Given the description of an element on the screen output the (x, y) to click on. 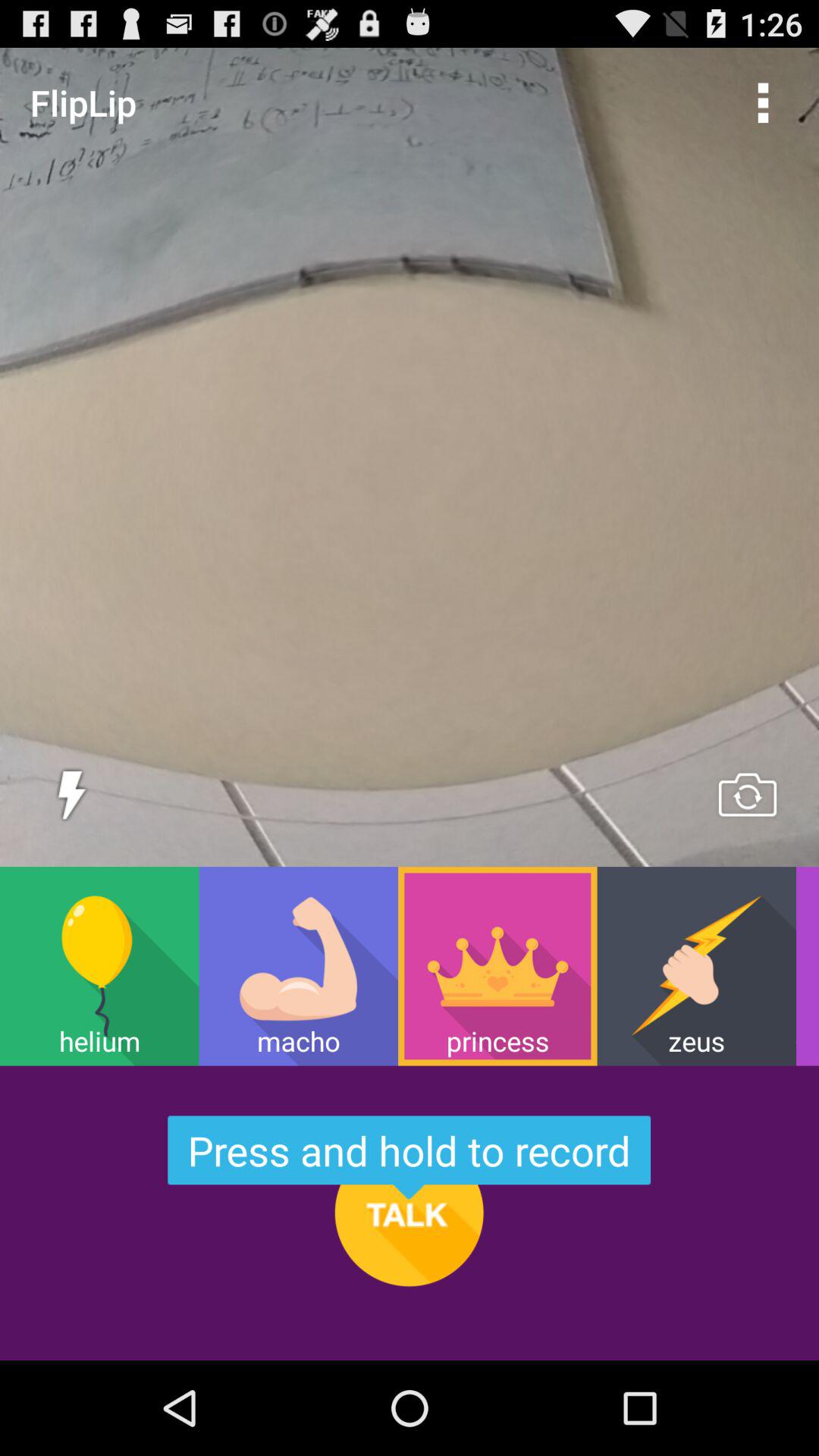
turn off the item to the left of zeus (497, 965)
